Given the description of an element on the screen output the (x, y) to click on. 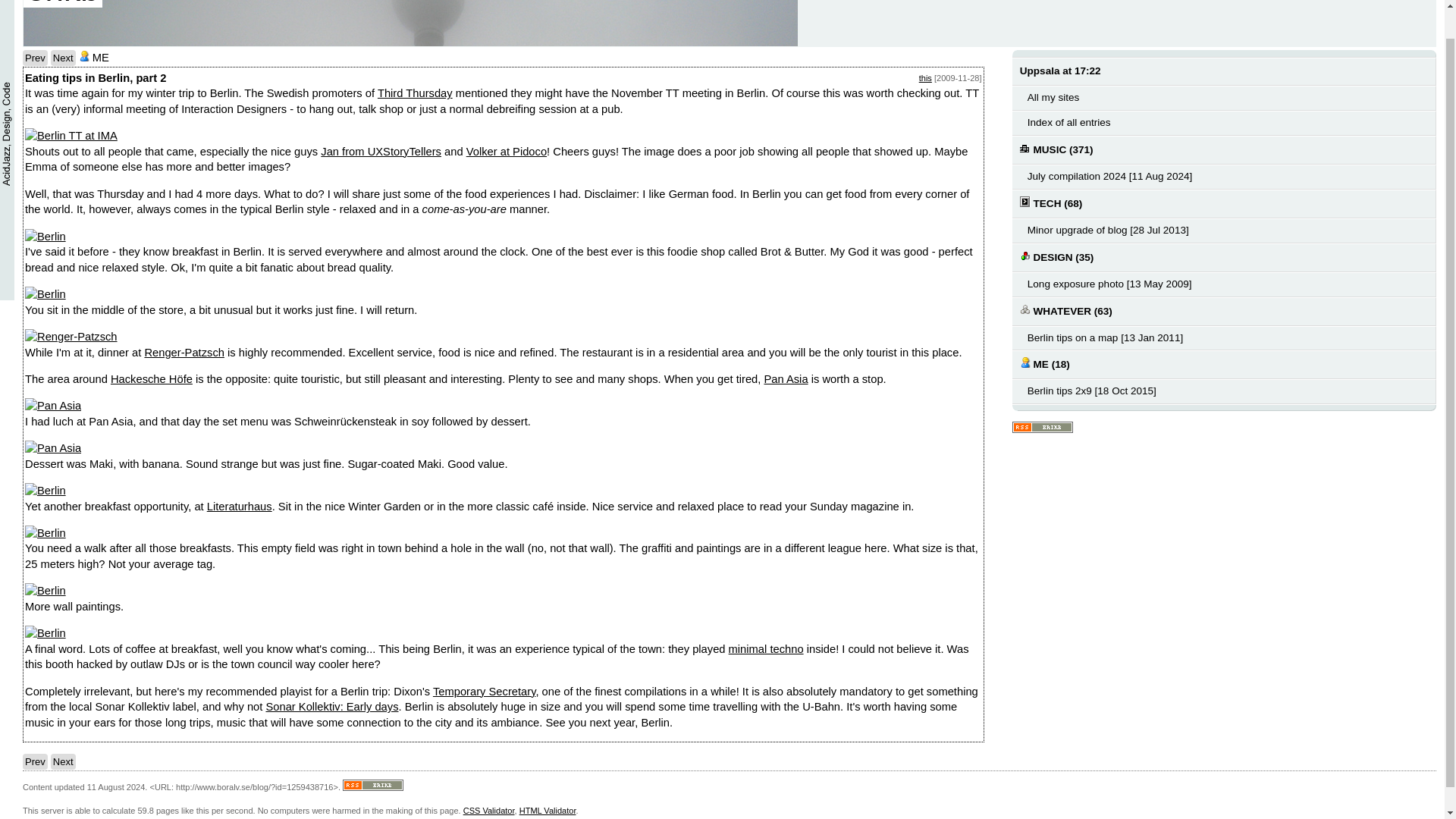
Berlin by erik boralv, on Flickr (44, 294)
minimal techno (766, 648)
Next (63, 761)
Berlin by erik boralv, on Flickr (44, 532)
this (924, 77)
Third Thursday (414, 92)
Pan Asia (785, 378)
home (62, 3)
Sausage making course (34, 761)
Sonar Kollektiv: Early days (330, 706)
